Given the description of an element on the screen output the (x, y) to click on. 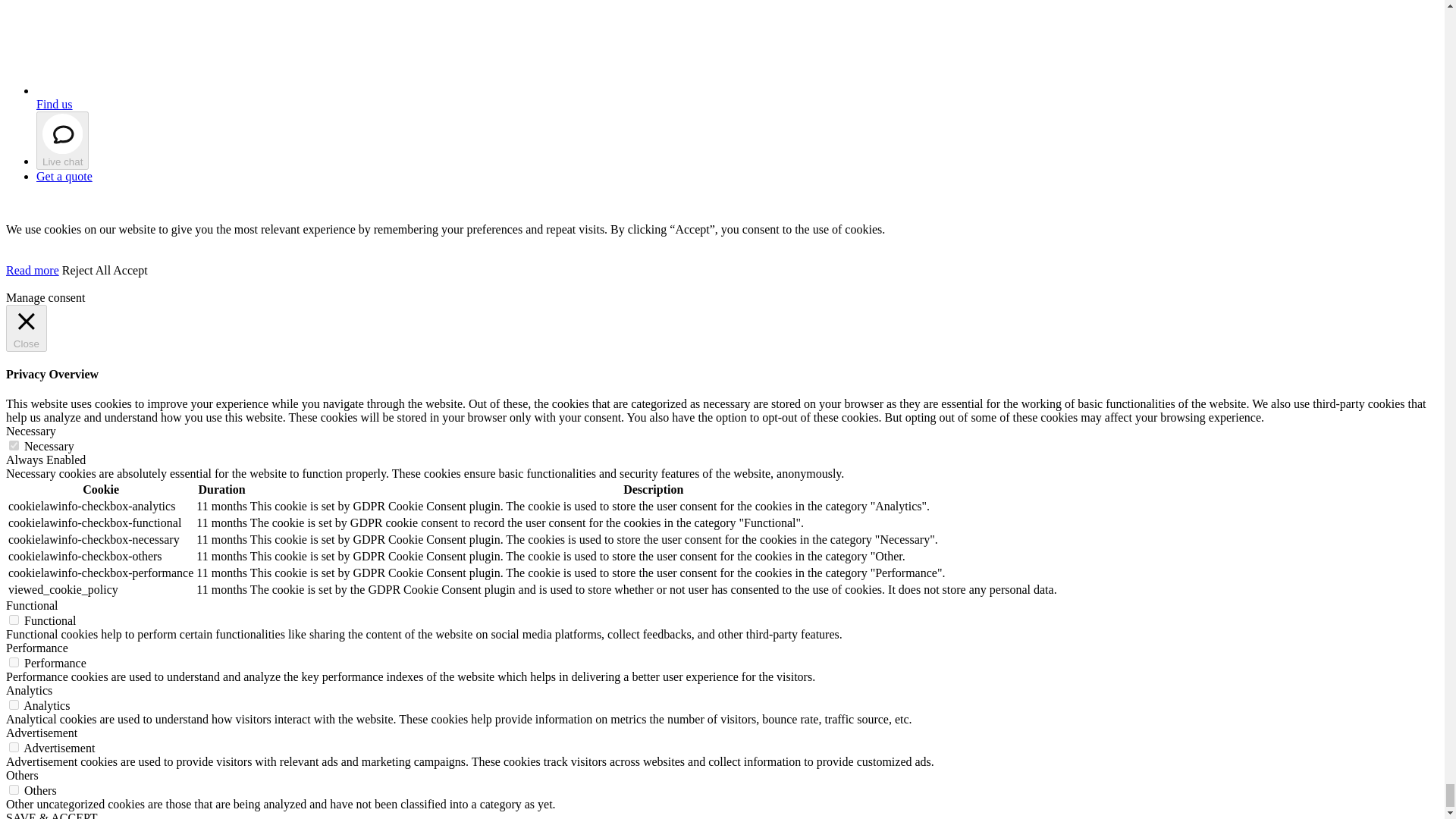
on (13, 445)
on (13, 789)
on (13, 619)
on (13, 747)
on (13, 705)
on (13, 662)
